Given the description of an element on the screen output the (x, y) to click on. 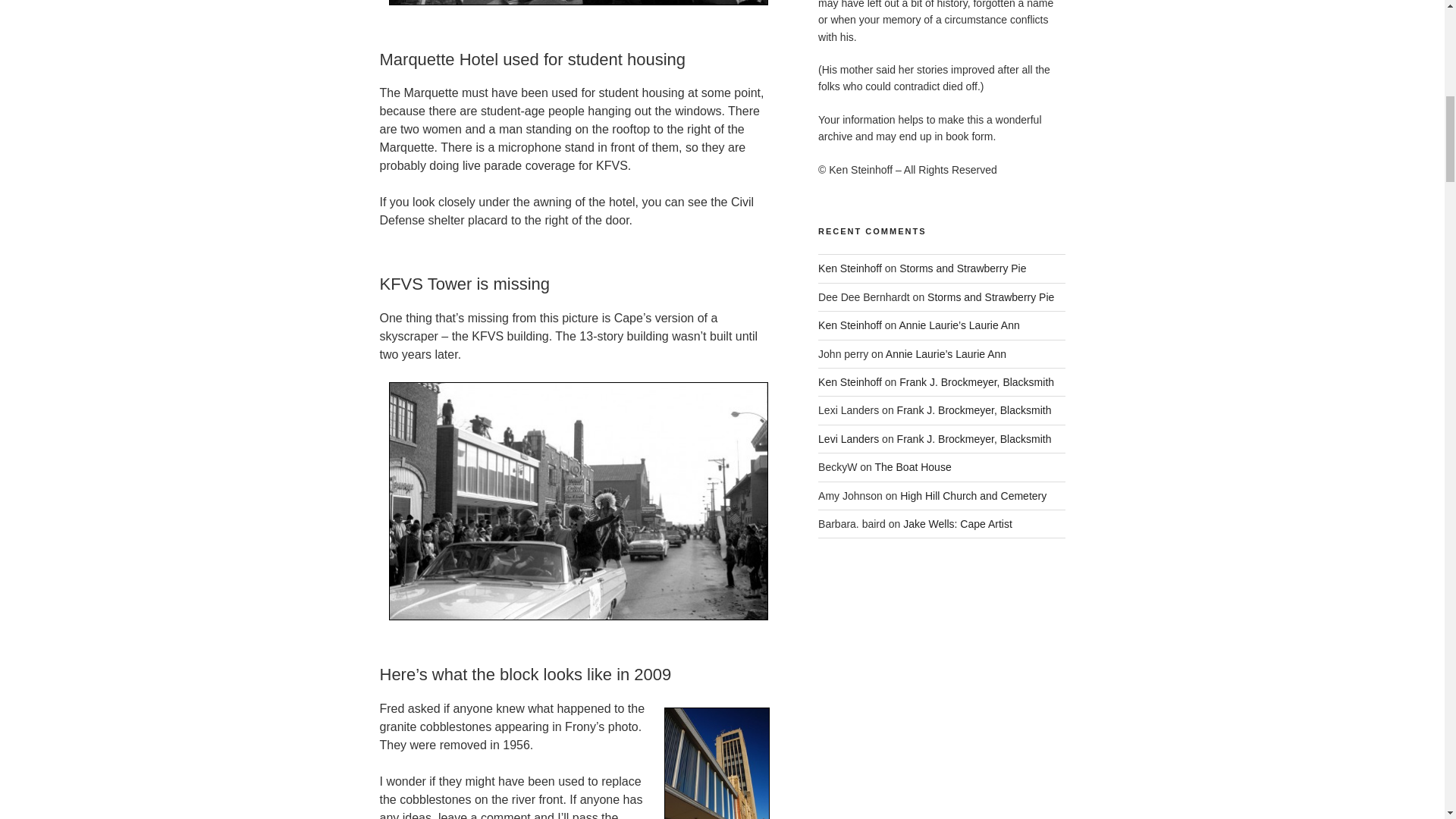
1966 SEMO Homecoming Parade in front of Marquette Hotel (578, 2)
KFVS TV Office building 10-24-09 (716, 763)
Broadway looking northeast; note the KFVS tower is missing (578, 501)
